Given the description of an element on the screen output the (x, y) to click on. 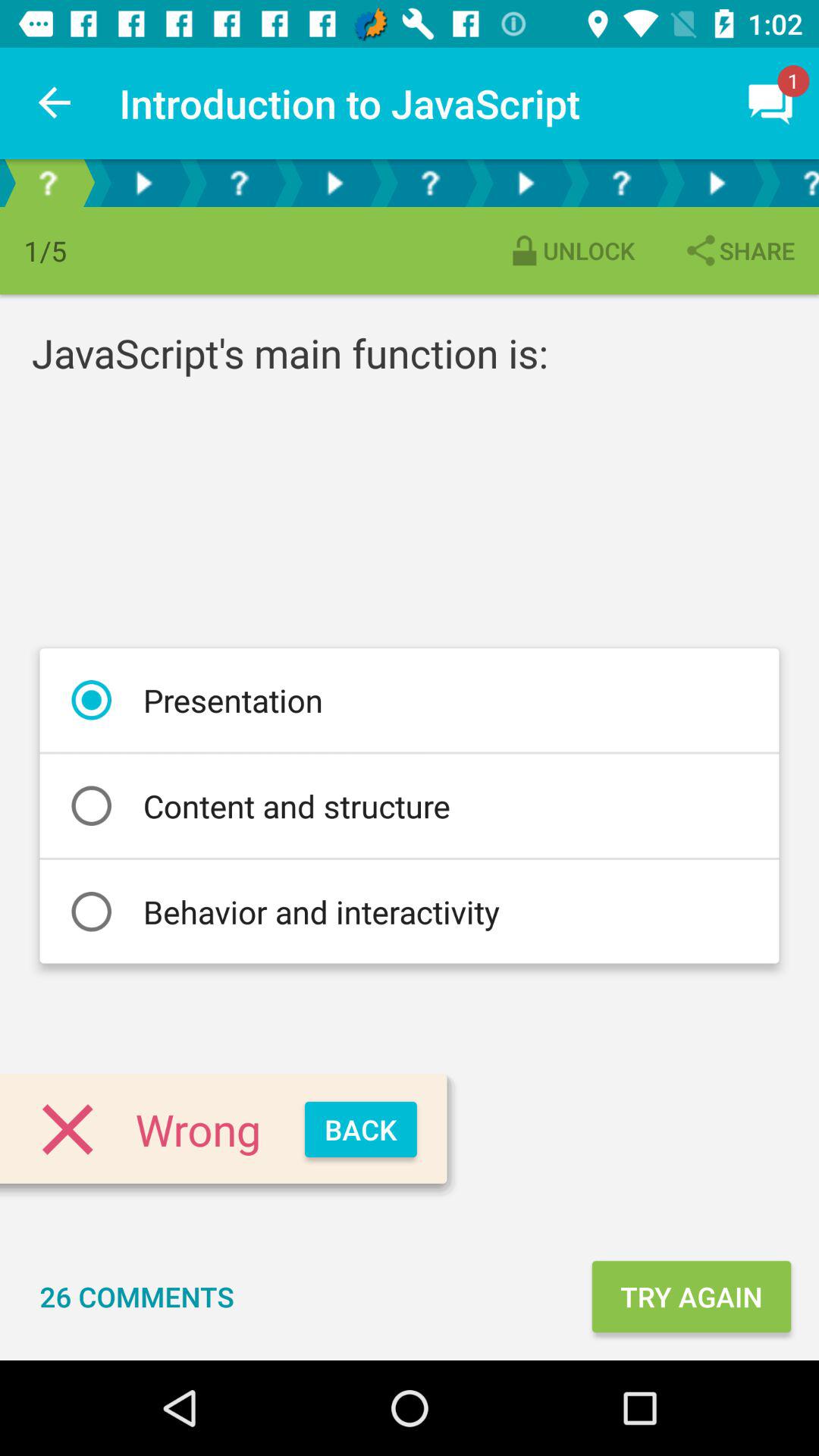
open question (620, 183)
